Given the description of an element on the screen output the (x, y) to click on. 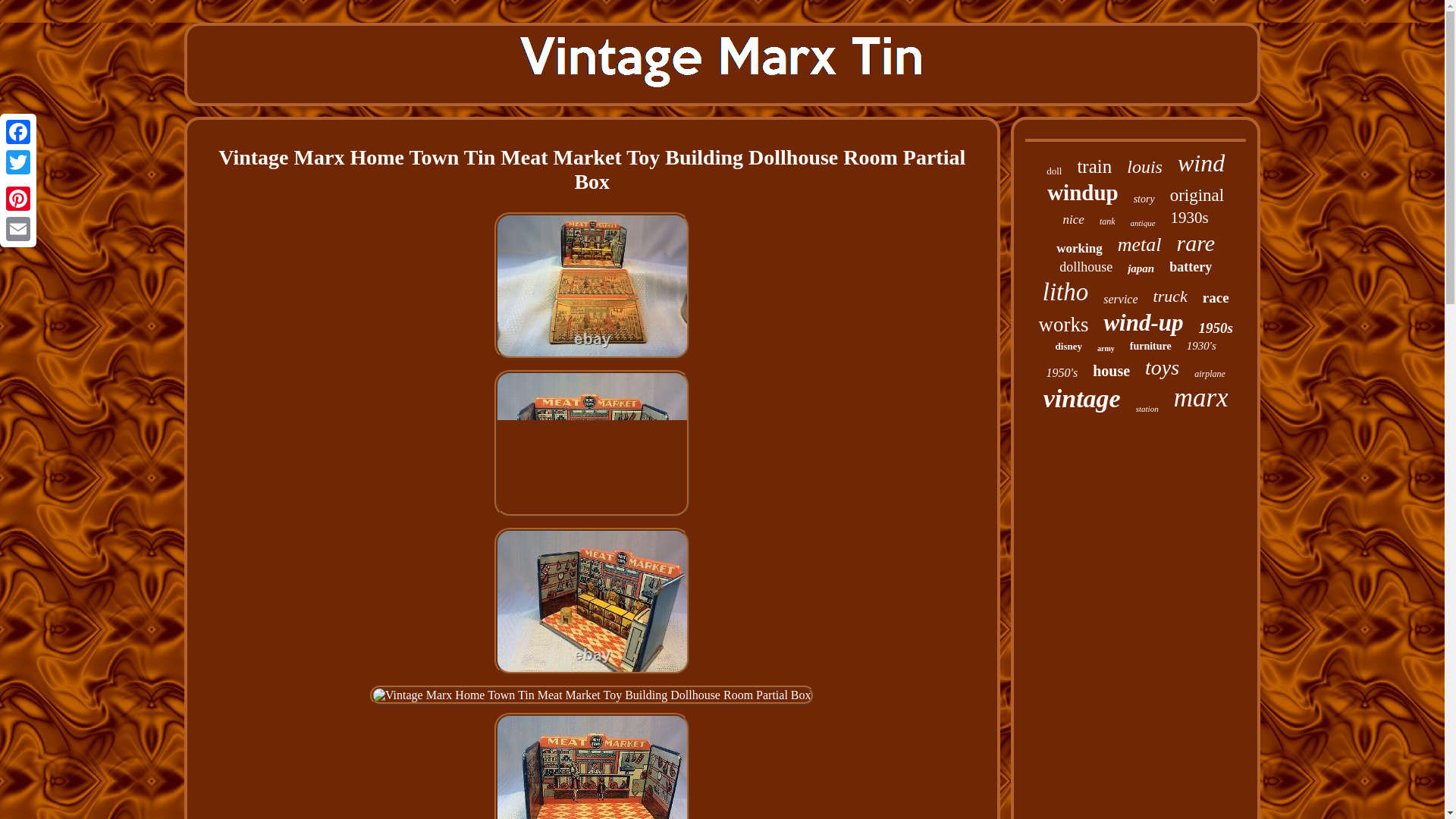
japan (1140, 268)
Twitter (17, 162)
1930's (1200, 345)
works (1062, 324)
disney (1068, 346)
nice (1073, 219)
tank (1107, 221)
louis (1143, 167)
race (1215, 297)
